Given the description of an element on the screen output the (x, y) to click on. 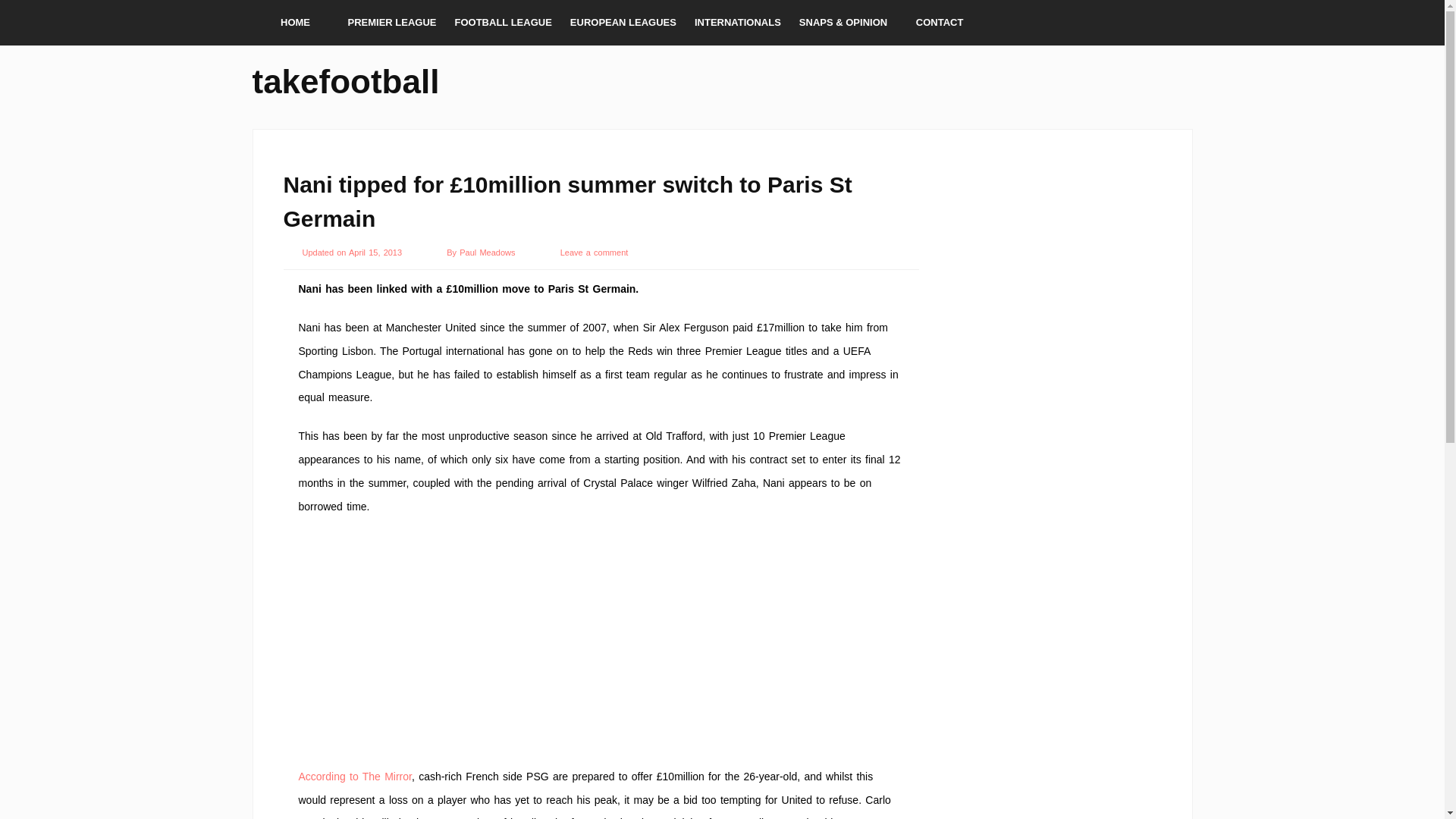
INTERNATIONALS (737, 22)
EUROPEAN LEAGUES (622, 22)
takefootball (345, 79)
HOME (294, 22)
PREMIER LEAGUE (391, 22)
FOOTBALL LEAGUE (502, 22)
Paul Meadows (489, 252)
According to The Mirror (355, 776)
Leave a comment (594, 252)
CONTACT (939, 22)
